Given the description of an element on the screen output the (x, y) to click on. 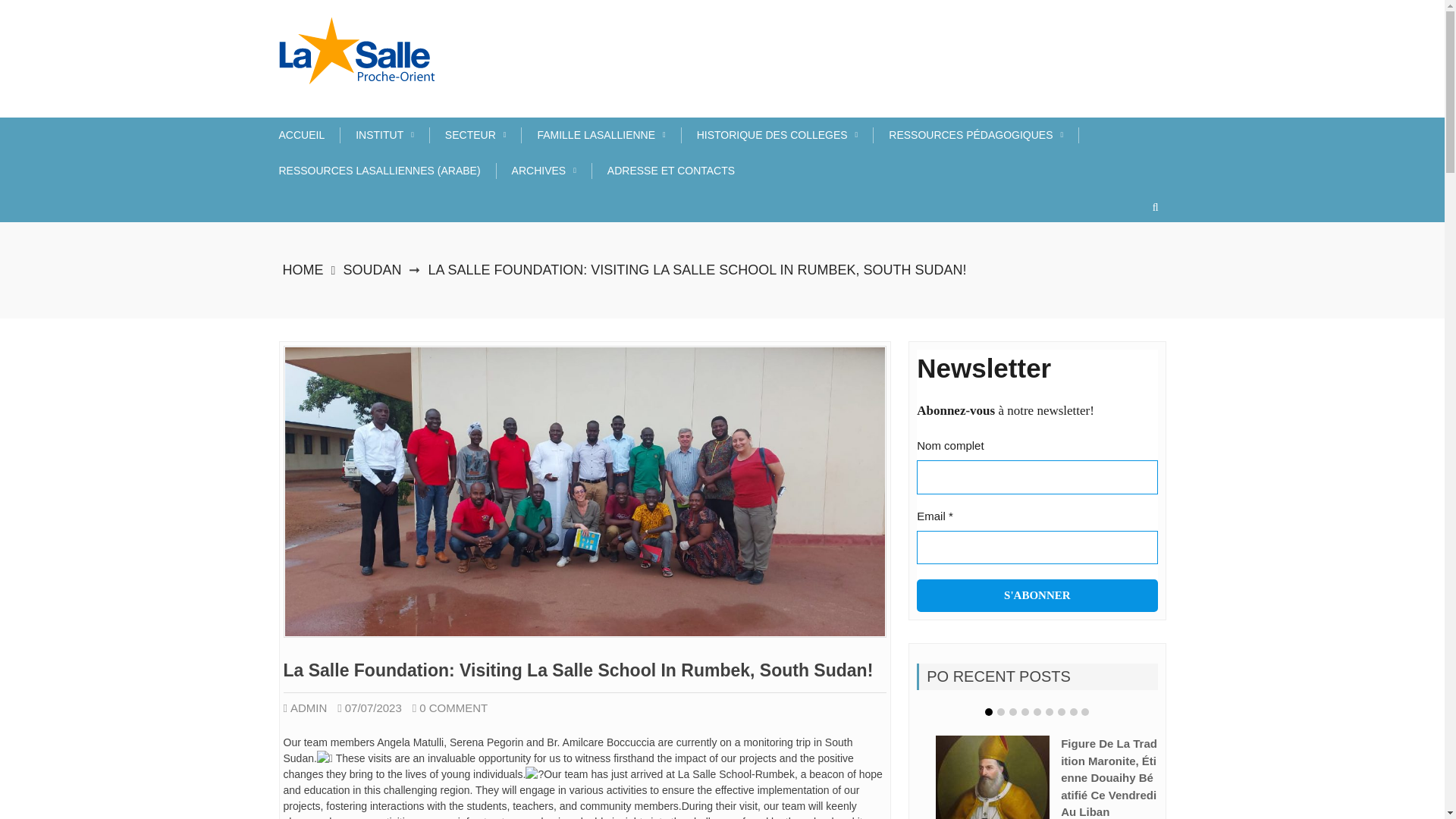
ACCUEIL (309, 135)
INSTITUT (392, 135)
S'ABONNER (1037, 595)
SECTEUR (483, 135)
HISTORIQUE DES COLLEGES (786, 135)
Email (1037, 547)
Nom complet (1037, 477)
FAMILLE LASALLIENNE (609, 135)
